Given the description of an element on the screen output the (x, y) to click on. 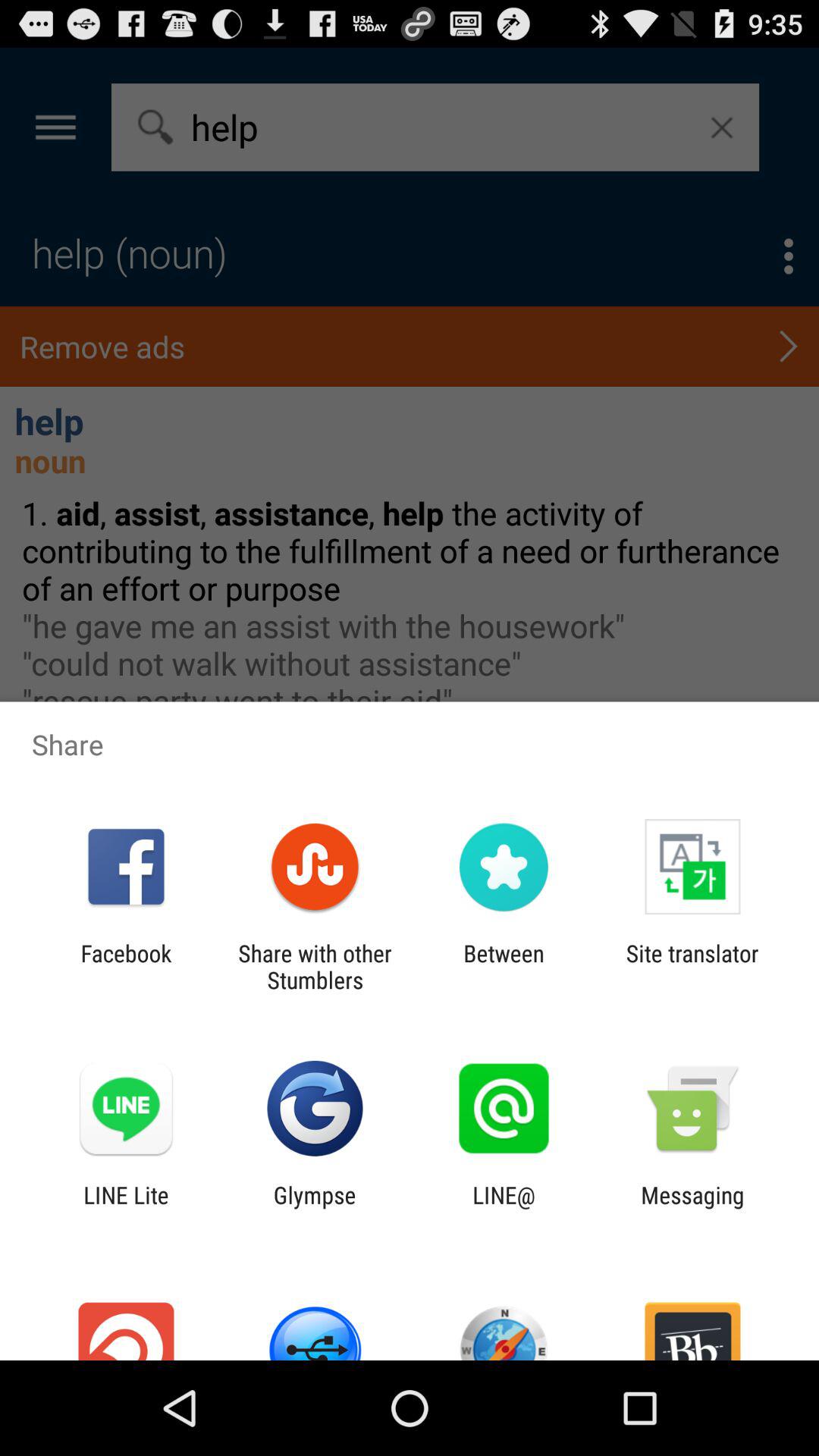
open app next to the line@ app (314, 1208)
